Given the description of an element on the screen output the (x, y) to click on. 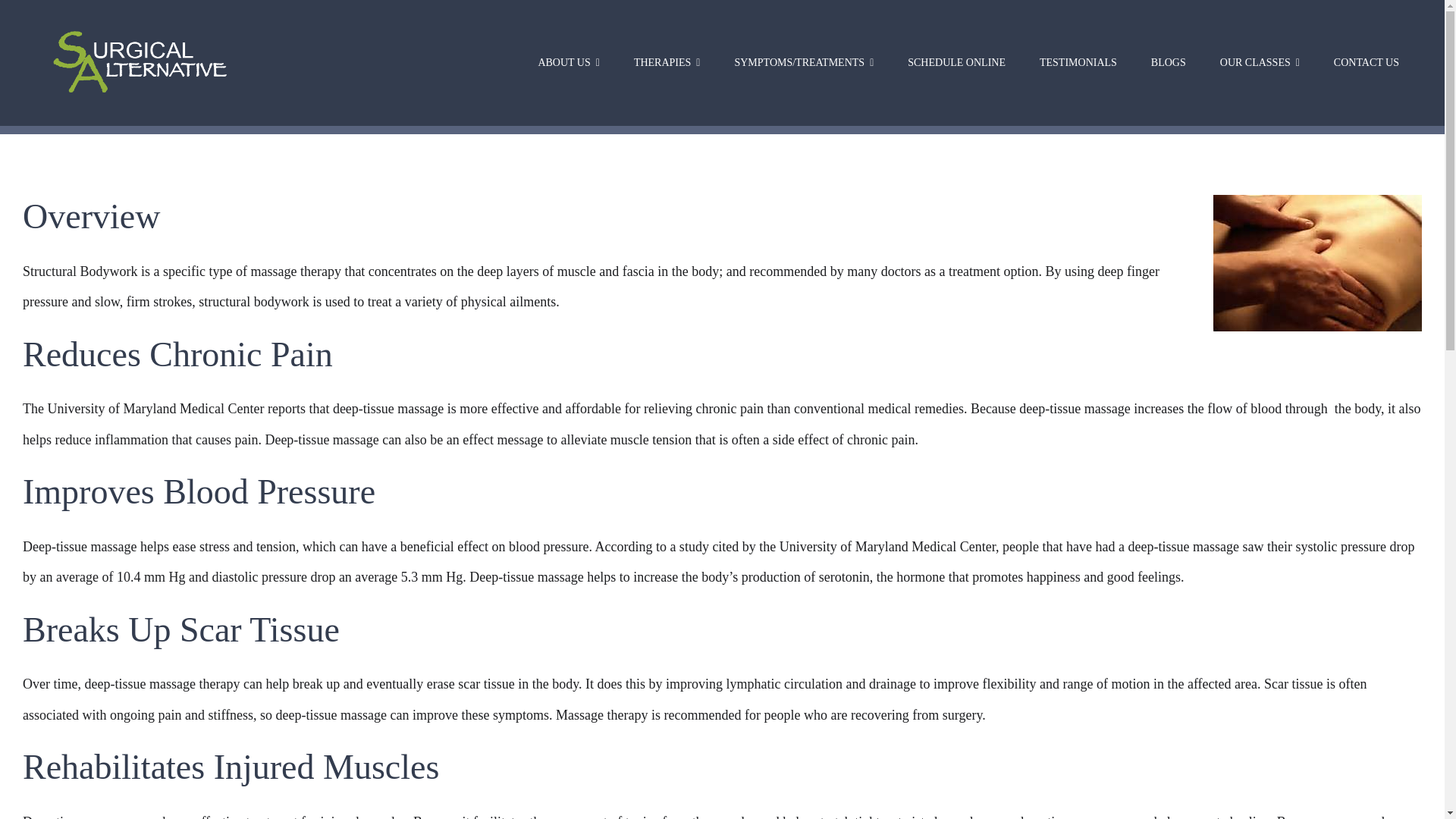
ABOUT US (568, 62)
More Options (871, 39)
Facebook (689, 39)
THERAPIES (666, 62)
LinkedIn (598, 39)
Cranial Structural Bodywork-Classes (1260, 62)
Yammer (825, 39)
SCHEDULE ONLINE (956, 62)
Reddit (780, 39)
TESTIMONIALS (1077, 62)
Pinterest (643, 39)
